Given the description of an element on the screen output the (x, y) to click on. 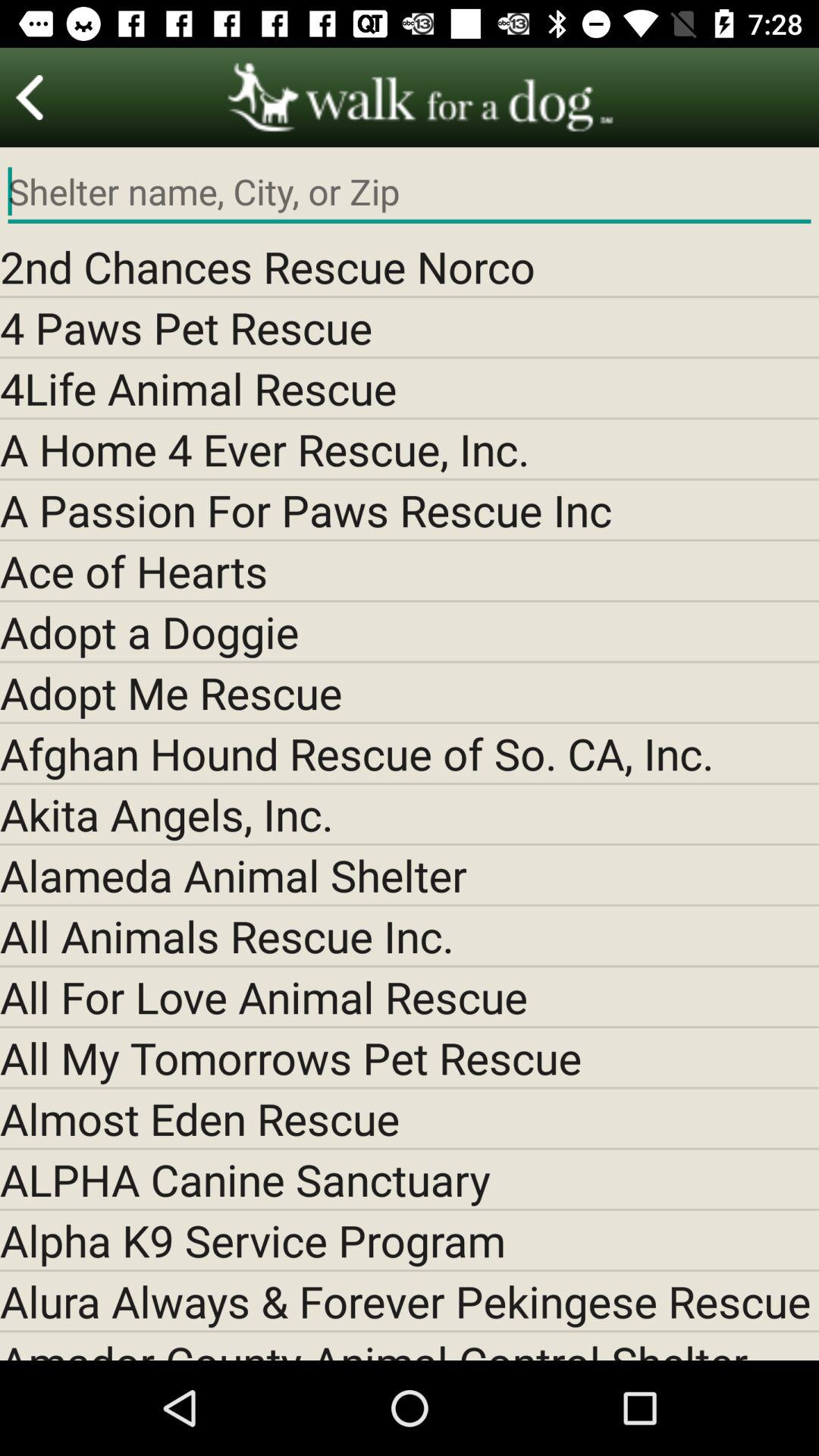
for preview (29, 97)
